Given the description of an element on the screen output the (x, y) to click on. 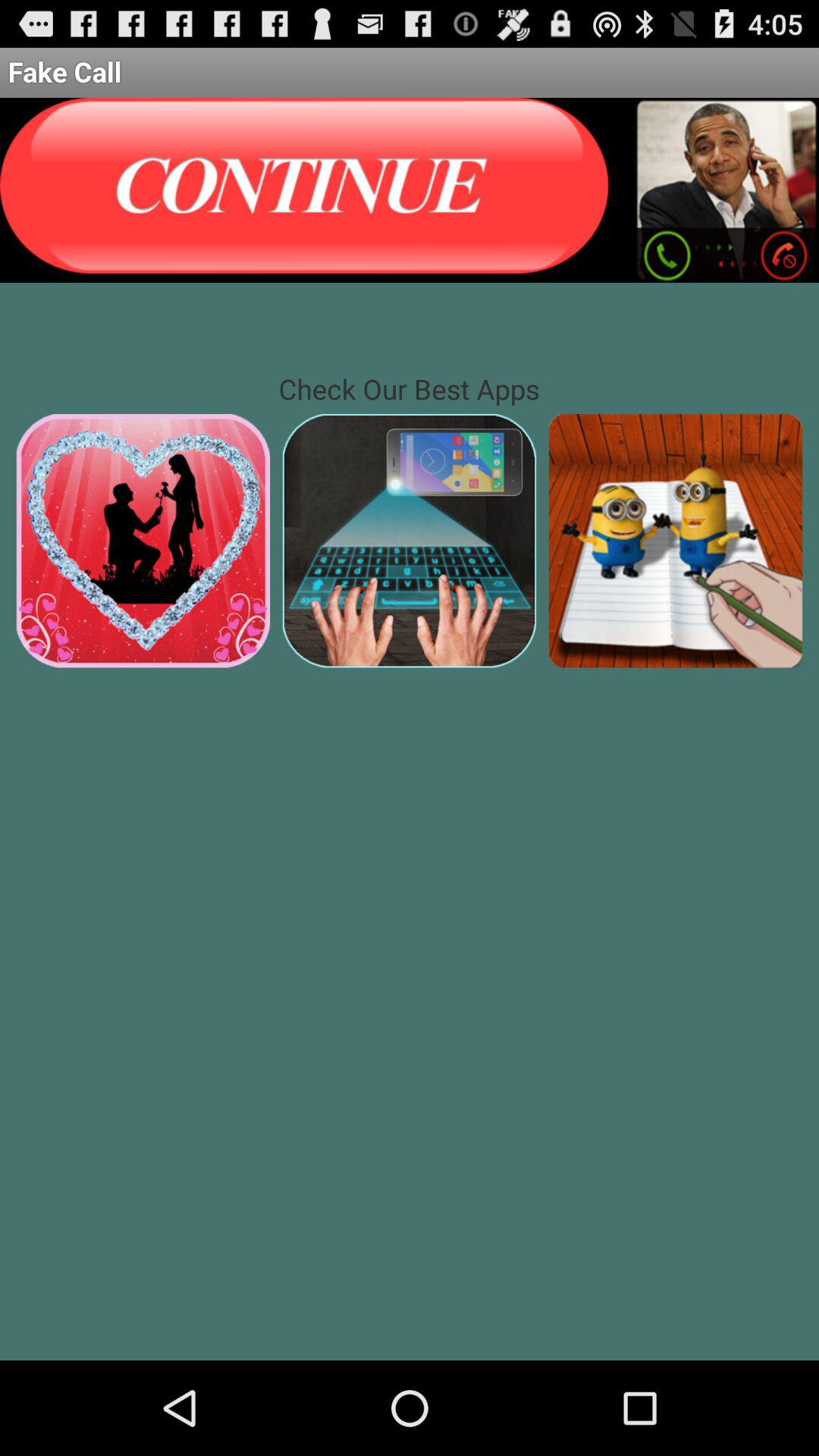
highlighted area probably opens an unknown application on your phone (675, 540)
